Given the description of an element on the screen output the (x, y) to click on. 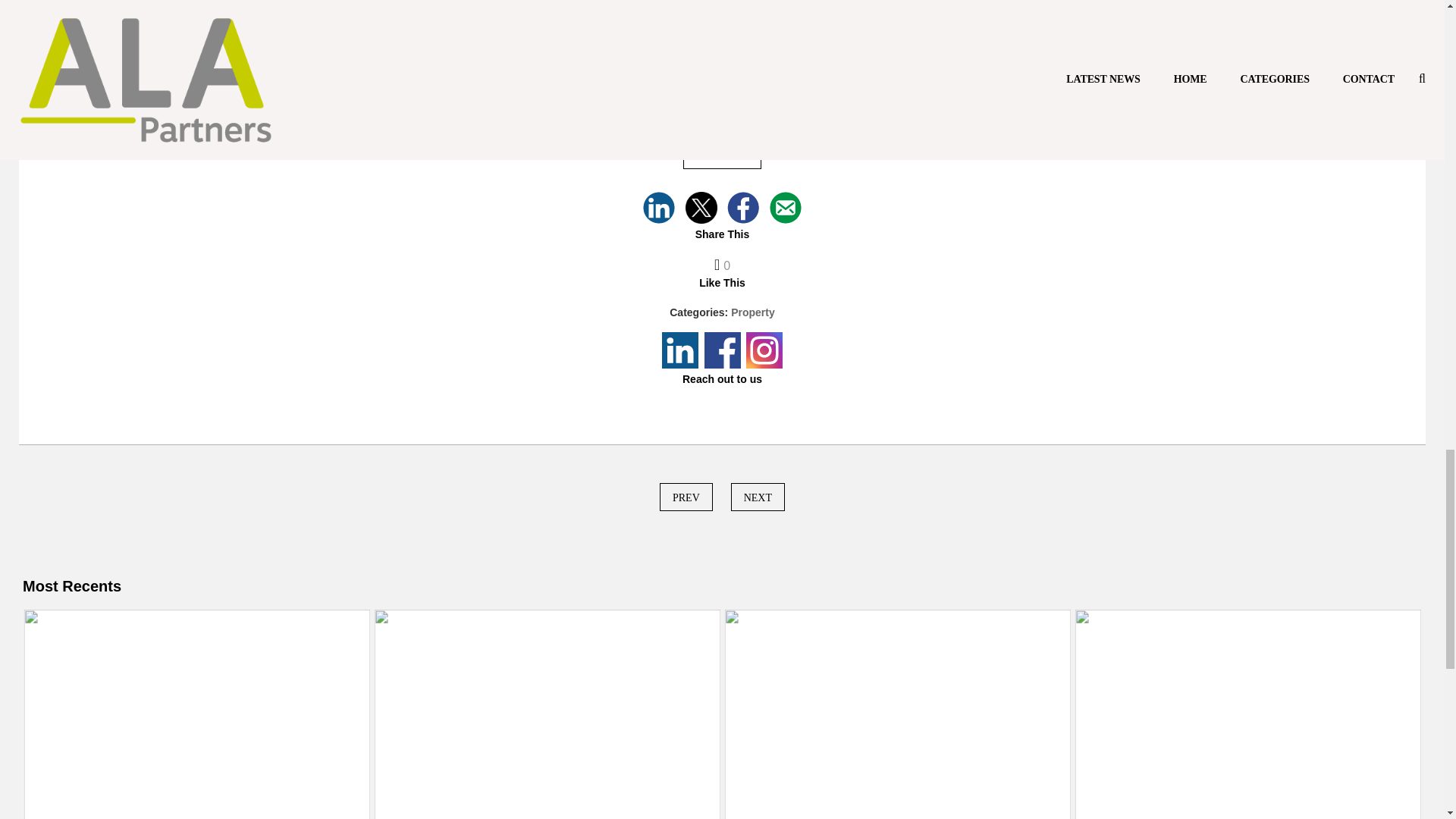
NEXT (757, 497)
Property (752, 312)
PRINT ME (721, 154)
mail (786, 207)
PREV (686, 497)
twitter (701, 207)
linkedin (659, 207)
facebook (742, 207)
